Given the description of an element on the screen output the (x, y) to click on. 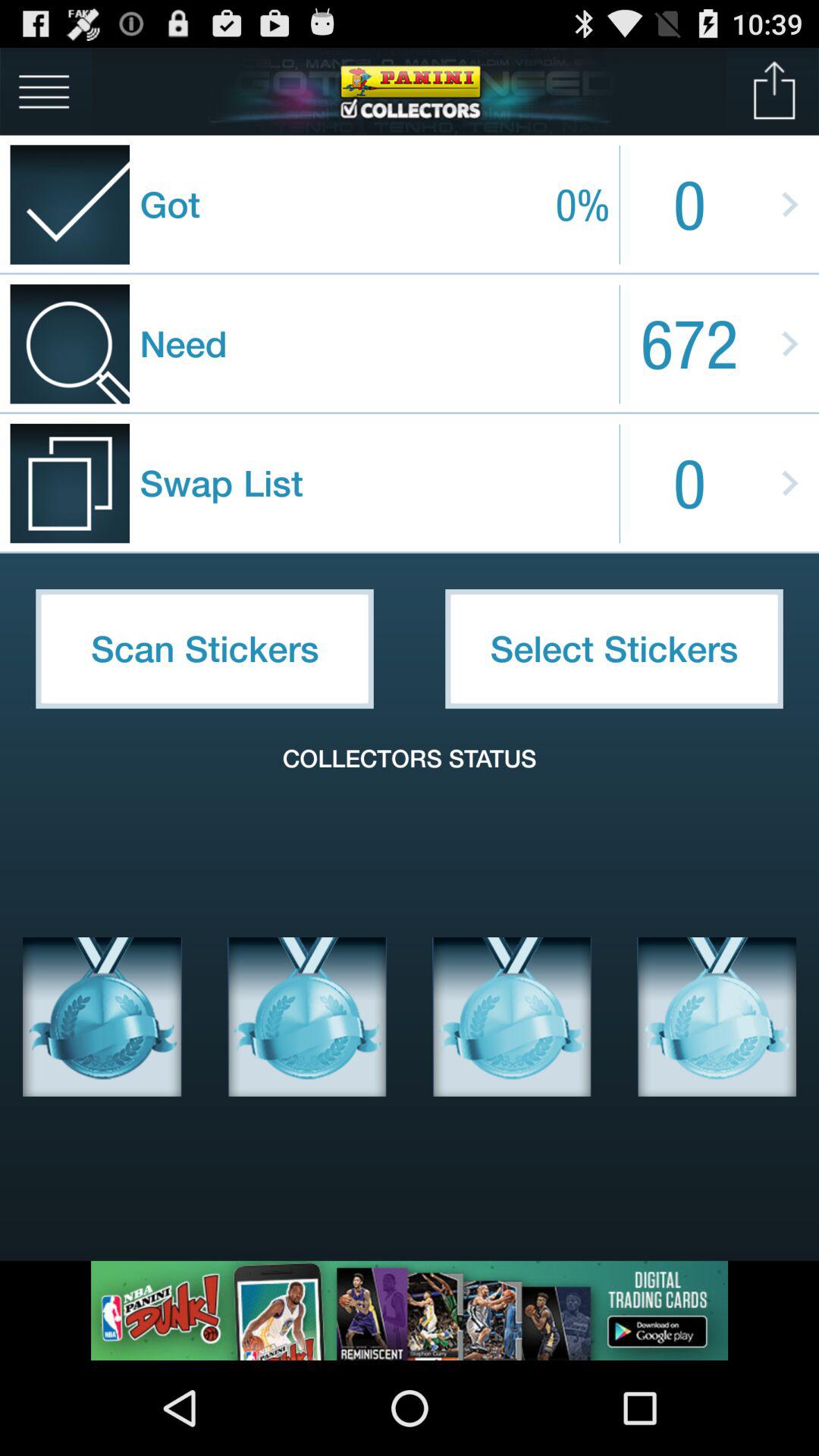
turn off the icon to the left of select stickers (204, 648)
